Given the description of an element on the screen output the (x, y) to click on. 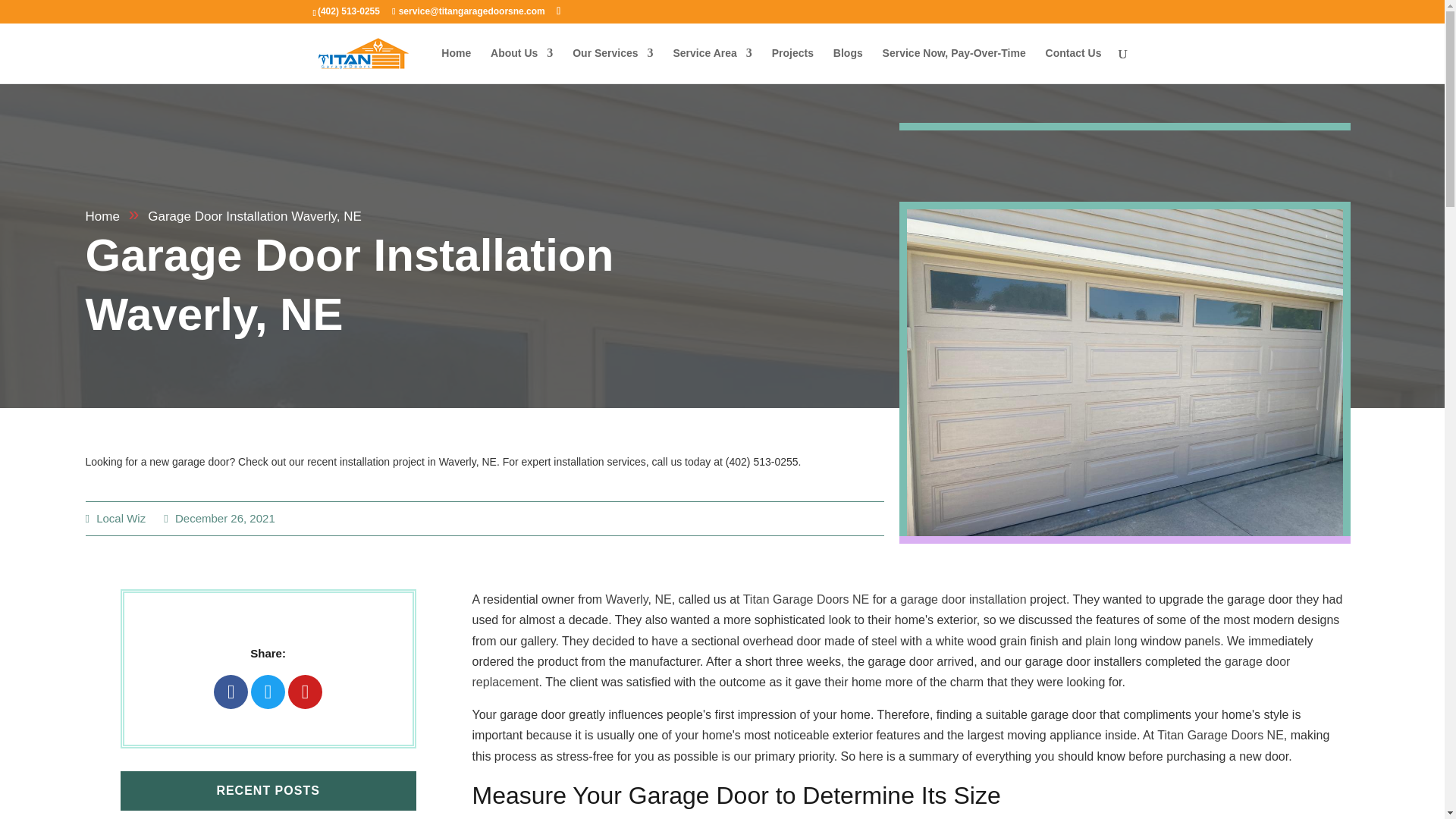
Our Services (612, 65)
Contact Us (1073, 65)
Home (101, 216)
Service Area (711, 65)
garage door installation (962, 599)
Titan Garage Doors NE (805, 599)
Projects (792, 65)
Service Now, Pay-Over-Time (954, 65)
garage door replacement (880, 671)
About Us (521, 65)
Titan Garage Doors NE (1220, 735)
Waverly, NE (638, 599)
